Given the description of an element on the screen output the (x, y) to click on. 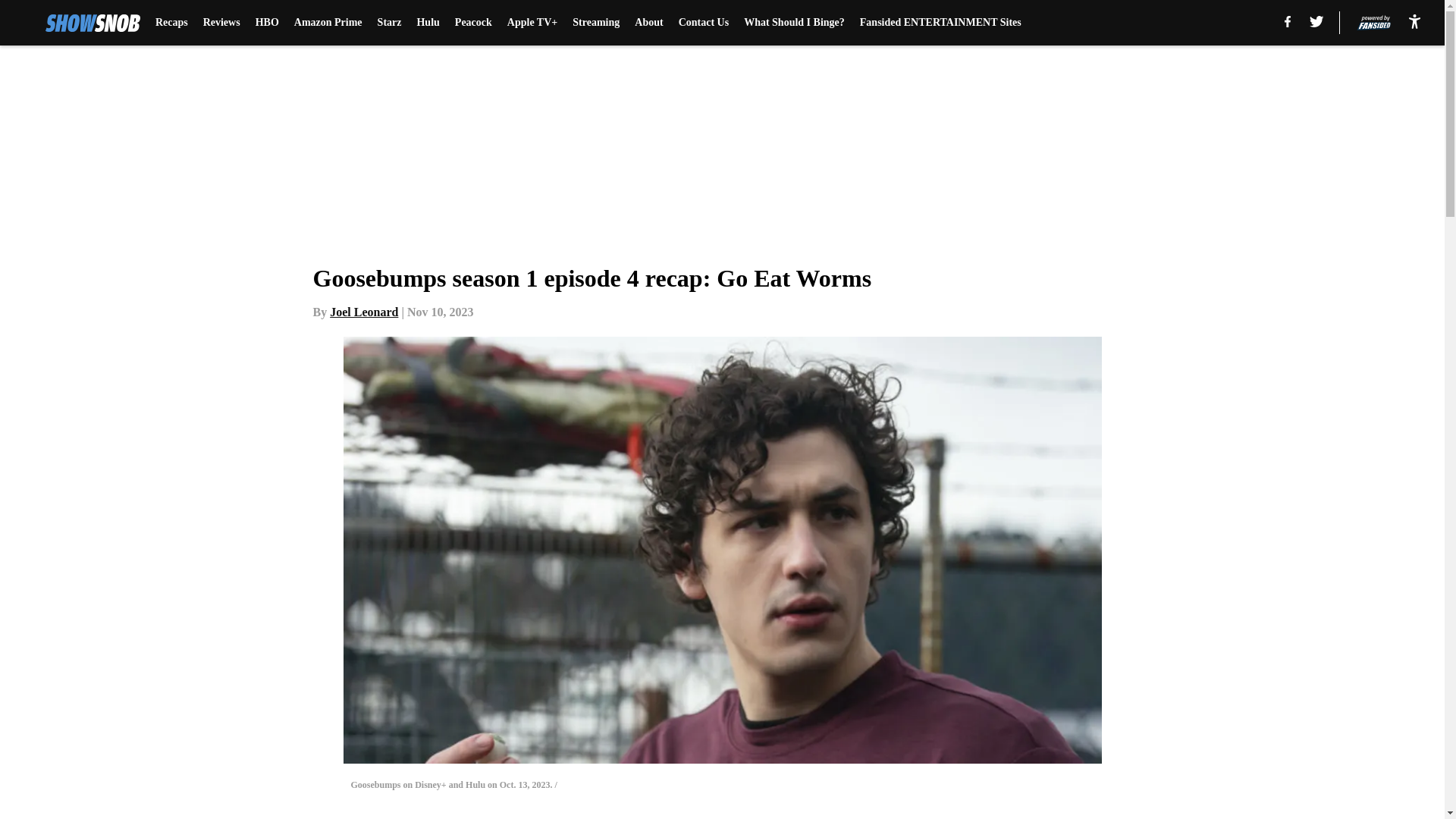
About (648, 22)
Contact Us (703, 22)
HBO (267, 22)
Hulu (427, 22)
What Should I Binge? (794, 22)
Recaps (171, 22)
Fansided ENTERTAINMENT Sites (941, 22)
Joel Leonard (363, 311)
Amazon Prime (328, 22)
Streaming (596, 22)
